Given the description of an element on the screen output the (x, y) to click on. 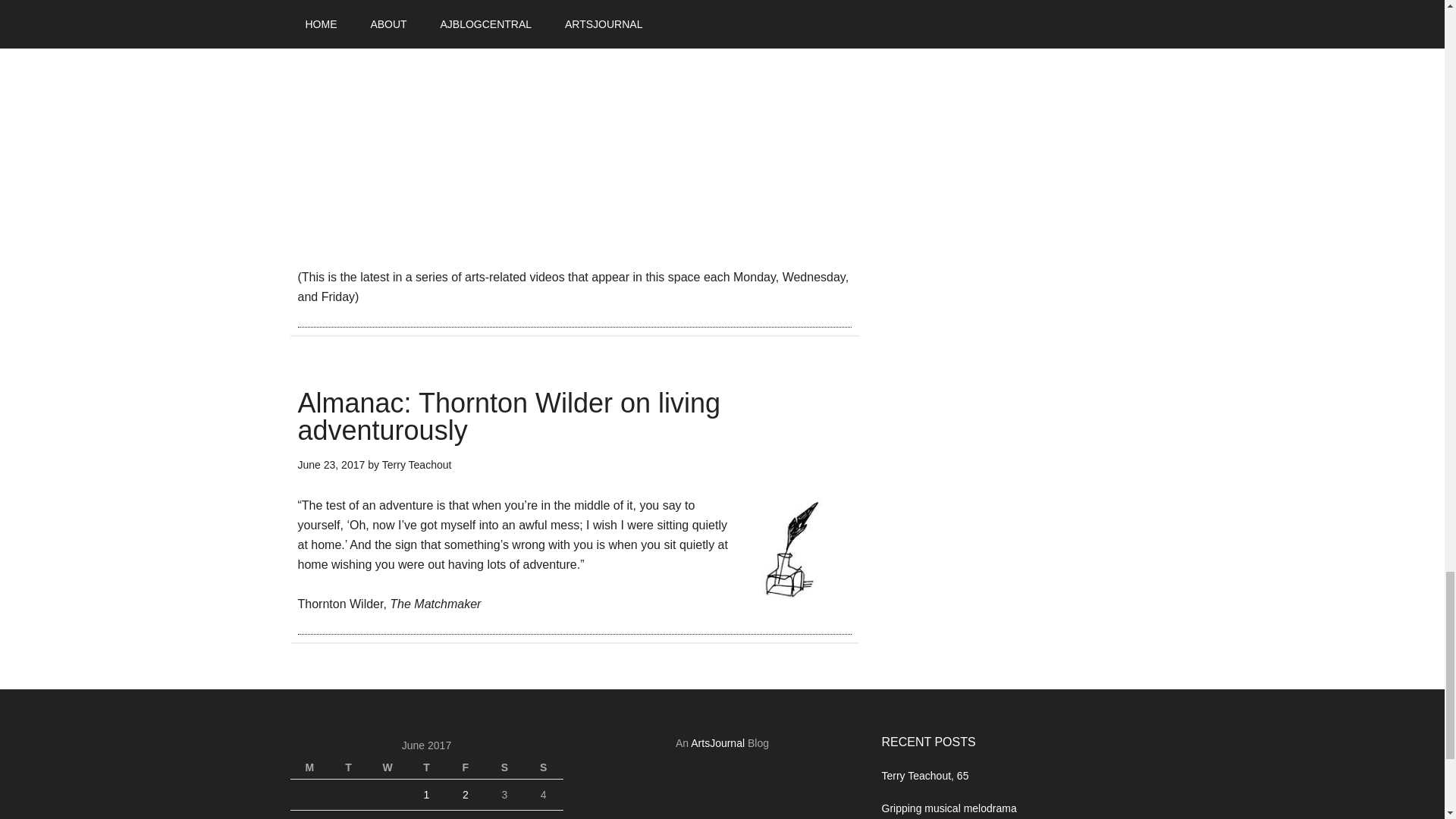
Tuesday (348, 767)
Monday (309, 767)
Terry Teachout (416, 463)
Wednesday (387, 767)
Almanac: Thornton Wilder on living adventurously (508, 415)
